Given the description of an element on the screen output the (x, y) to click on. 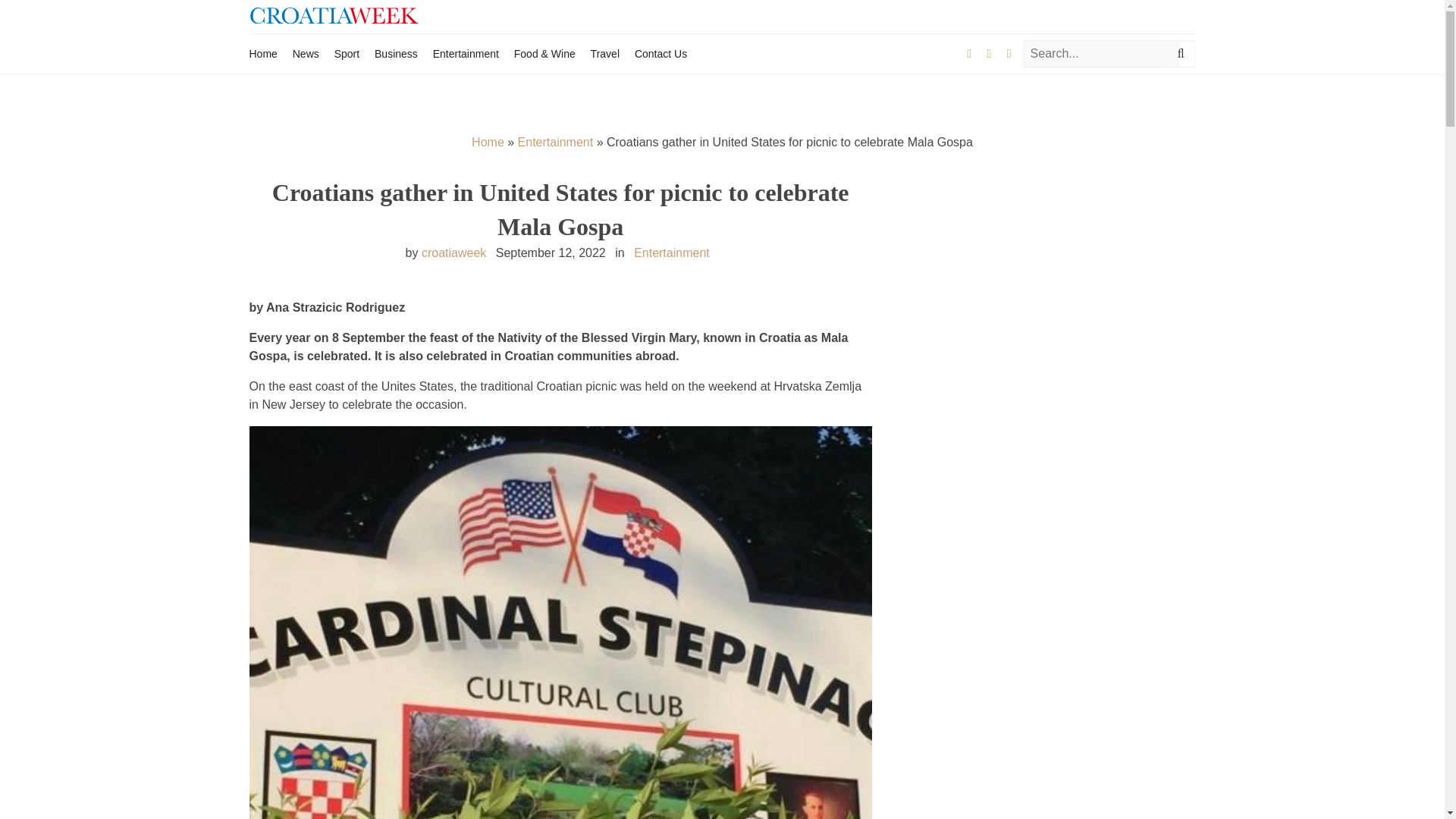
Home (262, 53)
Home (487, 141)
Entertainment (671, 252)
Business (395, 53)
Entertainment (556, 141)
Contact Us (660, 53)
News (305, 53)
croatiaweek (454, 252)
Sport (346, 53)
Entertainment (465, 53)
